Given the description of an element on the screen output the (x, y) to click on. 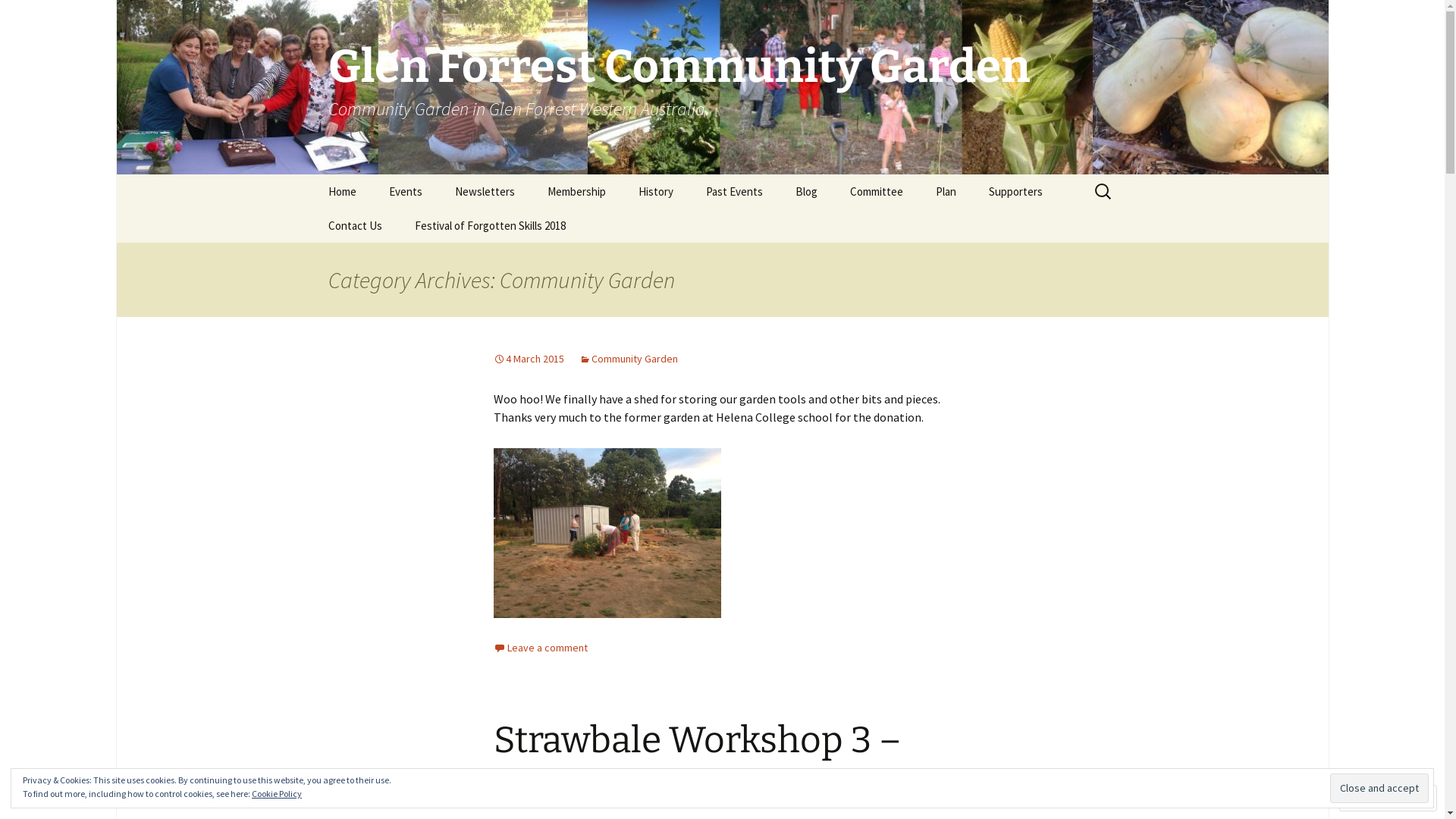
Close and accept Element type: text (1379, 788)
4 March 2015 Element type: text (527, 358)
Blog Element type: text (805, 191)
Membership Element type: text (576, 191)
Community Garden Element type: text (628, 358)
Events Element type: text (404, 191)
Festival of Forgotten Skills 2018 Element type: text (489, 225)
Search Element type: text (18, 16)
Home Element type: text (341, 191)
Committee Element type: text (875, 191)
Follow Element type: text (1373, 797)
Supporters Element type: text (1015, 191)
Newsletters Element type: text (484, 191)
Plan Element type: text (945, 191)
Contact Us Element type: text (354, 225)
History Element type: text (655, 191)
Cookie Policy Element type: text (276, 793)
Past Events Element type: text (733, 191)
Leave a comment Element type: text (539, 647)
